Given the description of an element on the screen output the (x, y) to click on. 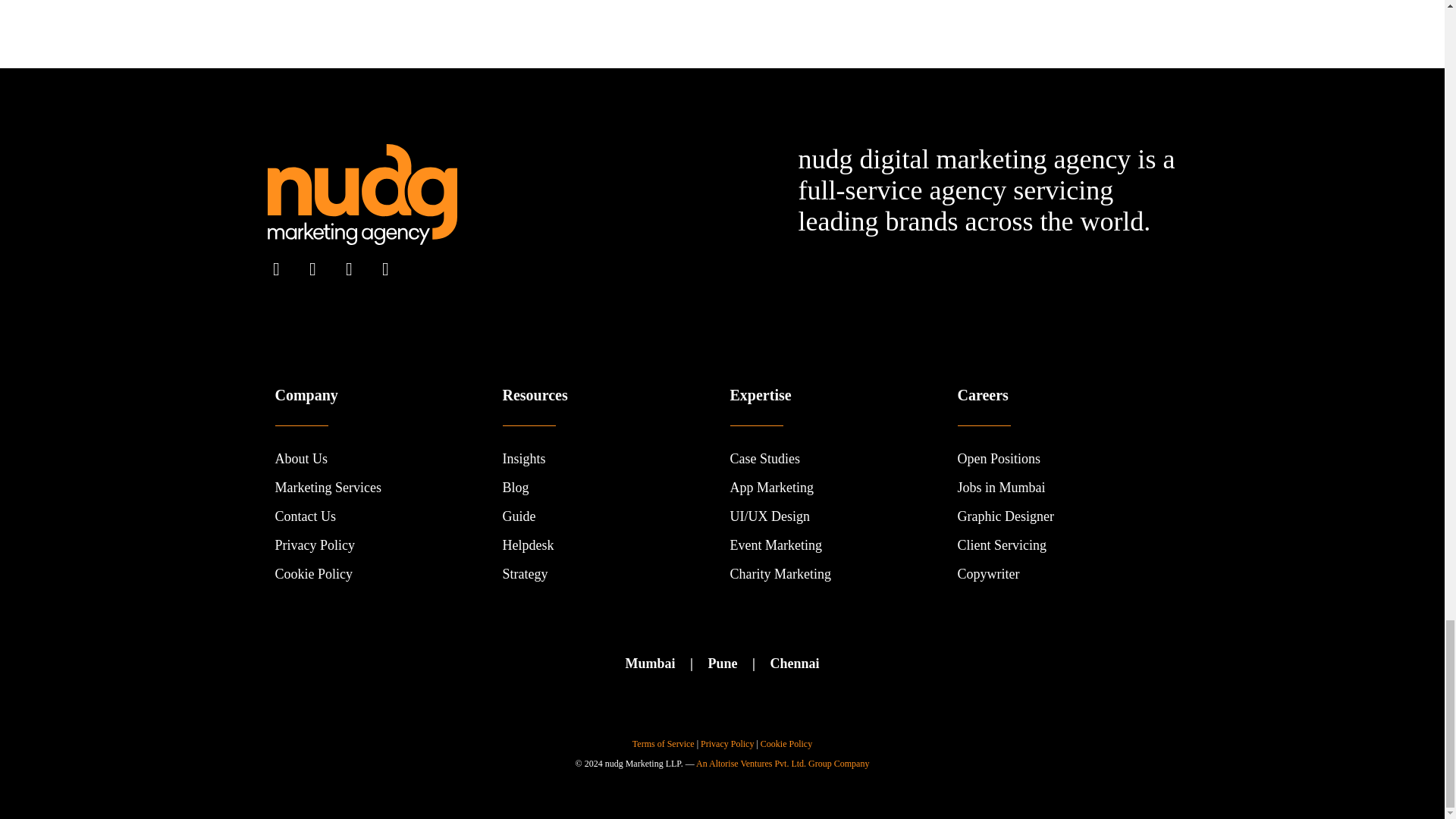
Blog (515, 487)
Mobil App Marketing (770, 487)
Strategy (524, 573)
Privacy Policy (315, 545)
Cookie Policy (313, 573)
Insights (523, 458)
Marketing Services (327, 487)
Contact Us (305, 516)
Guide (518, 516)
About Us (301, 458)
